Given the description of an element on the screen output the (x, y) to click on. 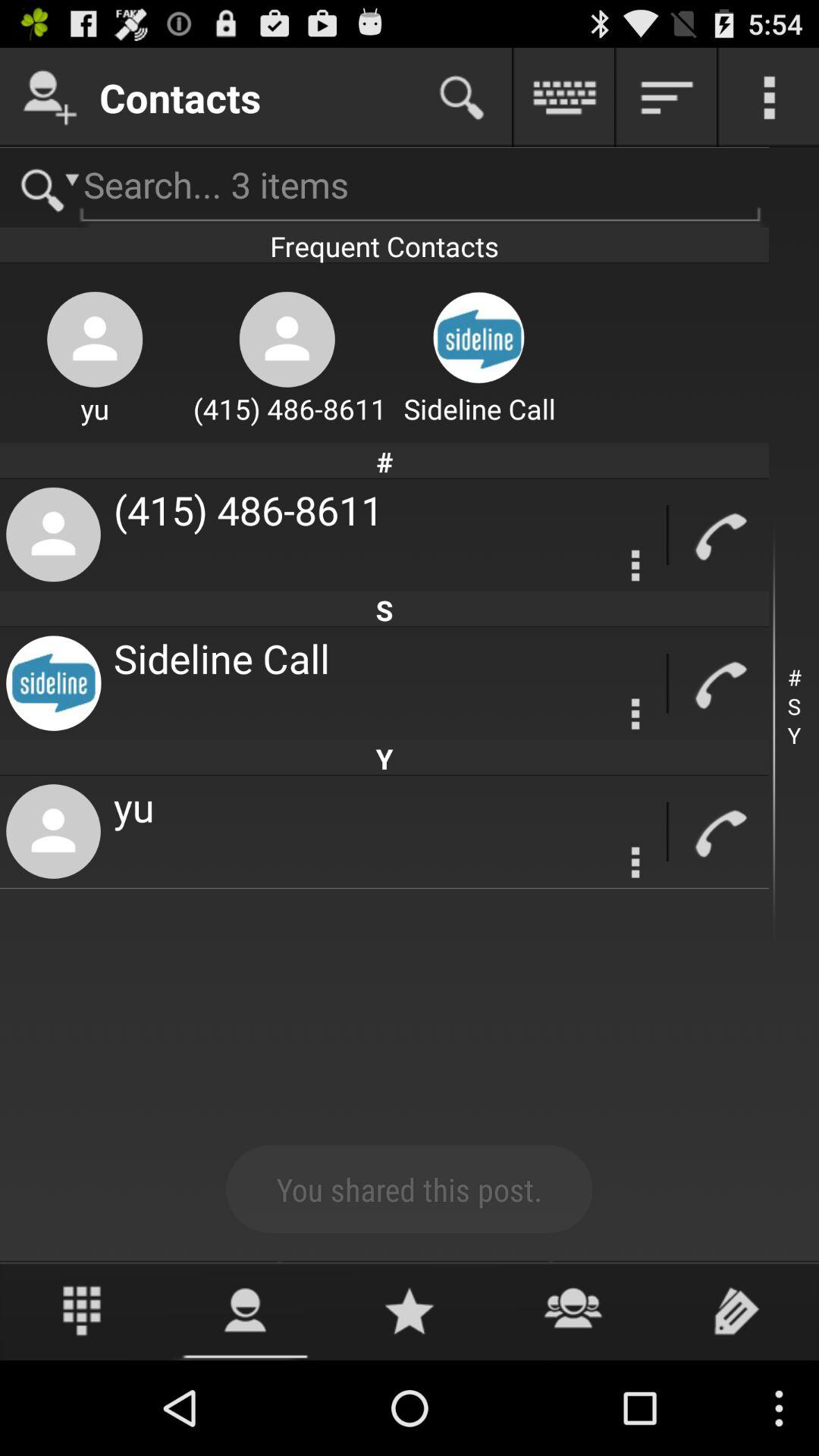
phone call (718, 831)
